Given the description of an element on the screen output the (x, y) to click on. 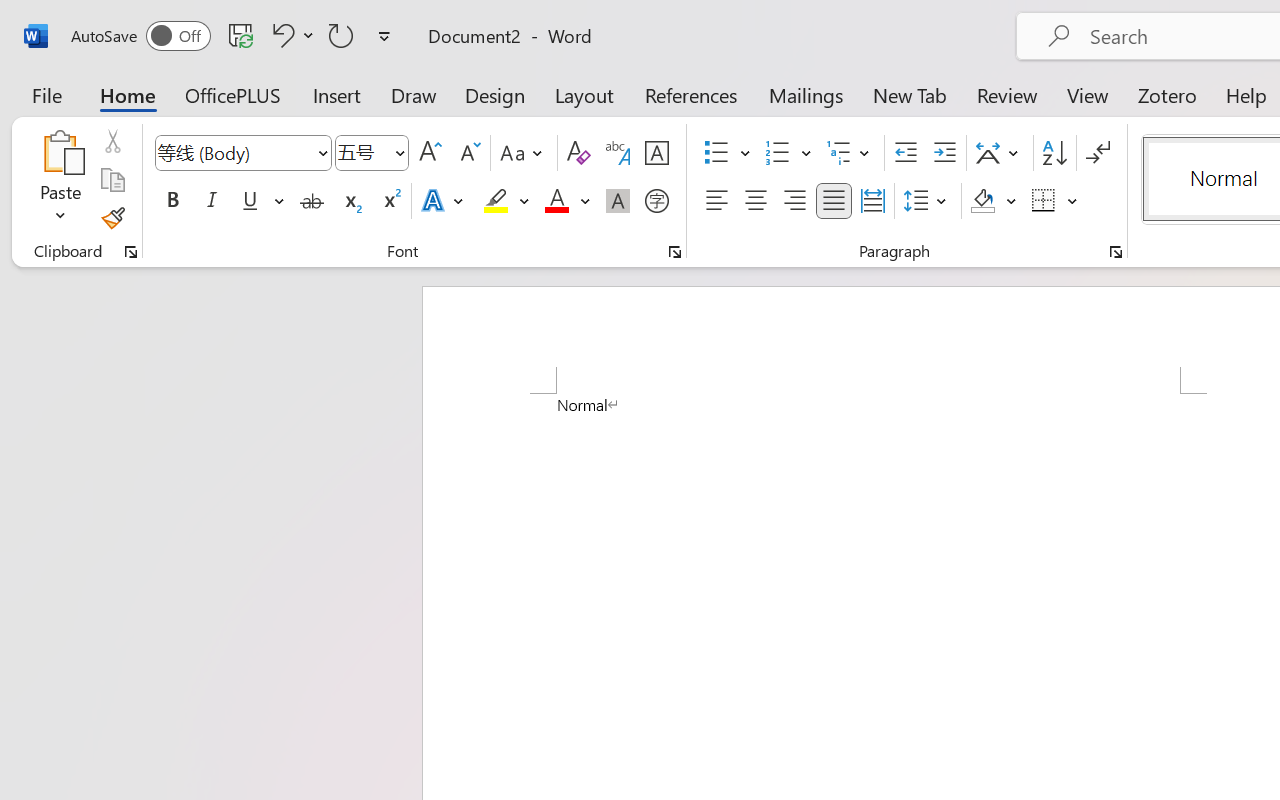
Text Highlight Color Yellow (495, 201)
